Given the description of an element on the screen output the (x, y) to click on. 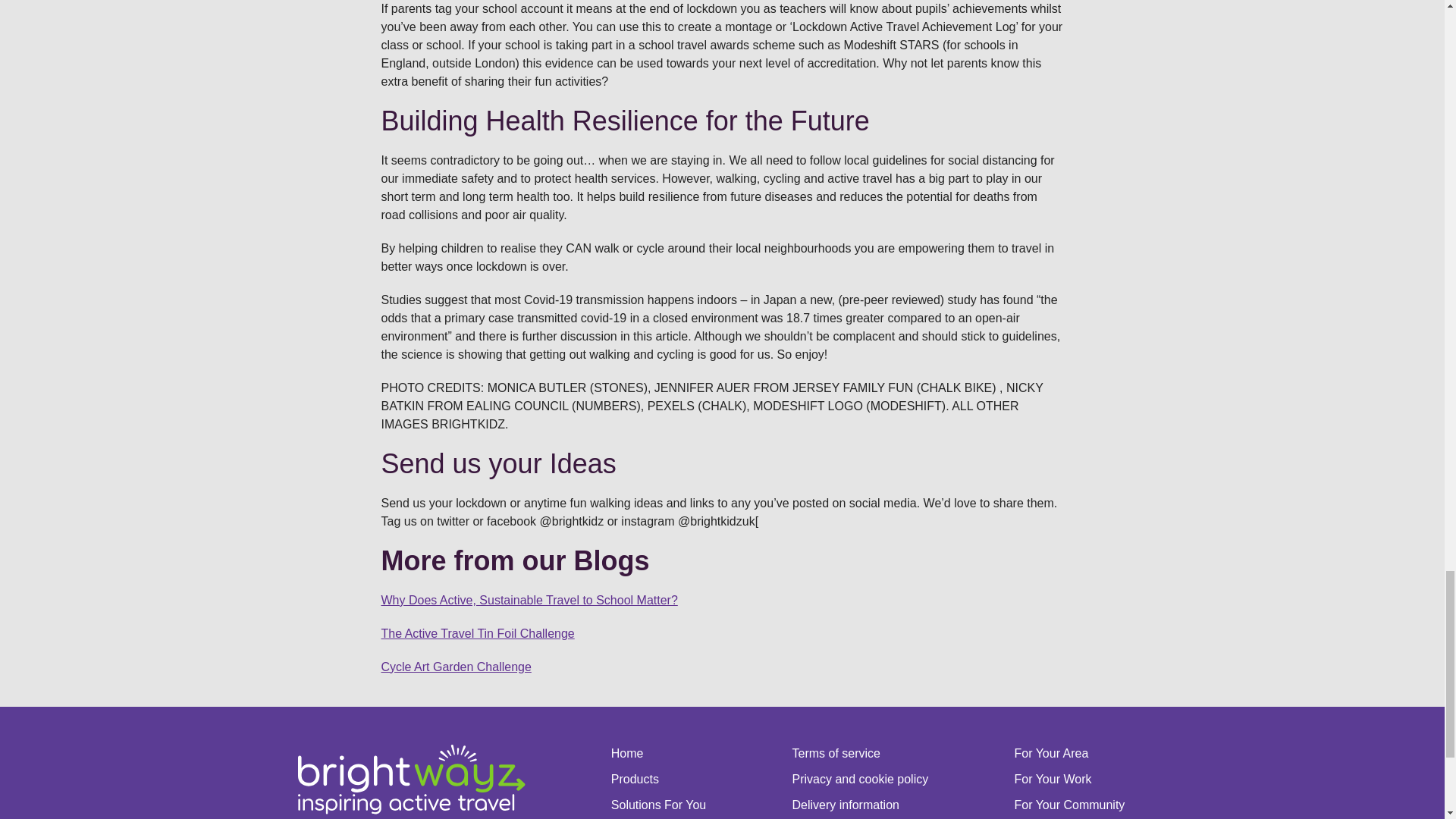
Solutions For You (658, 805)
The Active Travel Tin Foil Challenge (476, 633)
Privacy and cookie policy (860, 779)
Why Does Active, Sustainable Travel to School Matter? (528, 599)
Delivery information (860, 805)
Products (658, 779)
Cycle Art Garden Challenge (455, 666)
Terms of service (860, 753)
Home (658, 753)
